Given the description of an element on the screen output the (x, y) to click on. 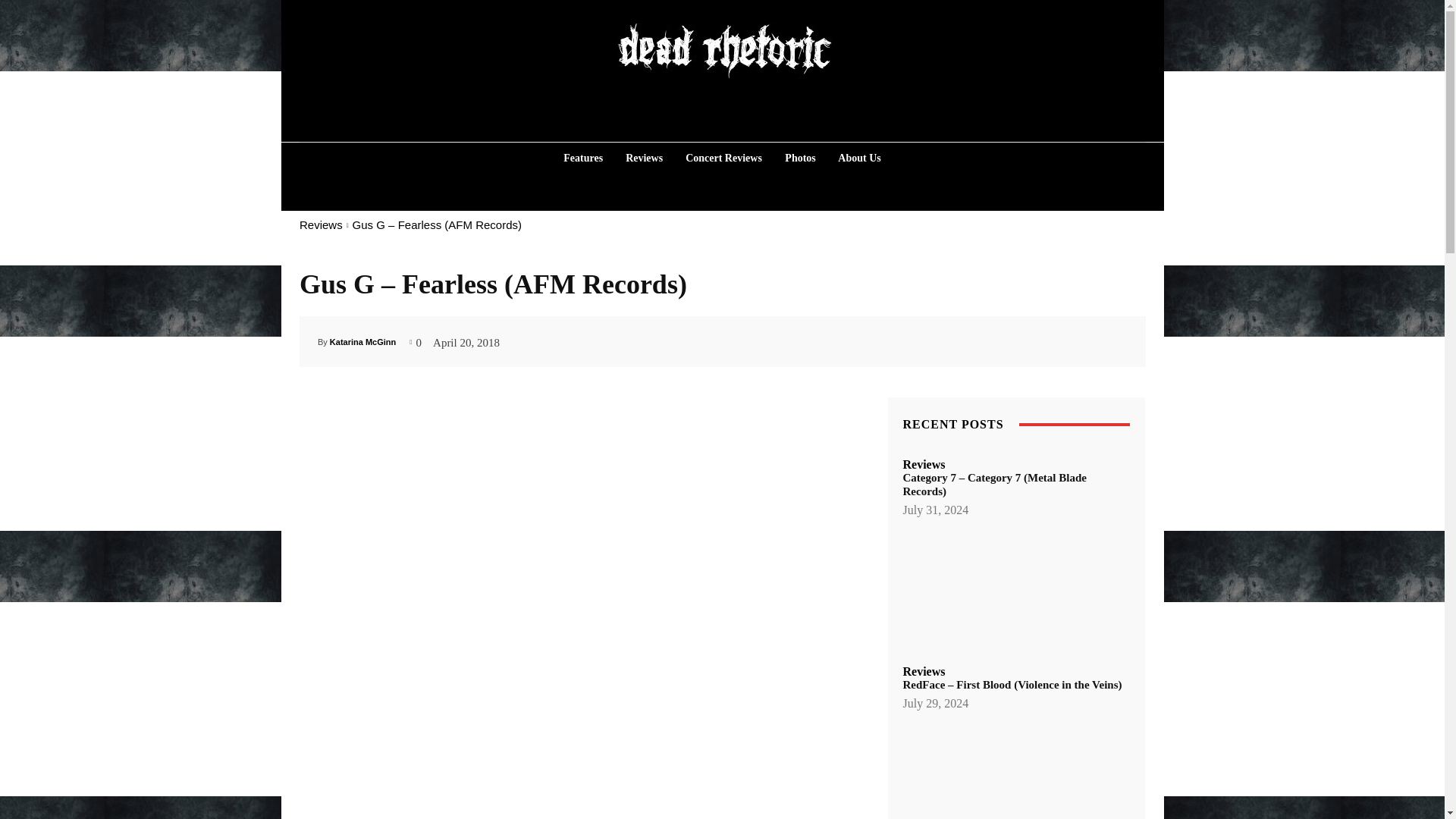
About Us (858, 158)
Reviews (320, 224)
Katarina McGinn (361, 341)
Reviews (643, 158)
Features (583, 158)
Concert Reviews (724, 158)
Photos (799, 158)
0 (415, 340)
View all posts in Reviews (320, 224)
